Given the description of an element on the screen output the (x, y) to click on. 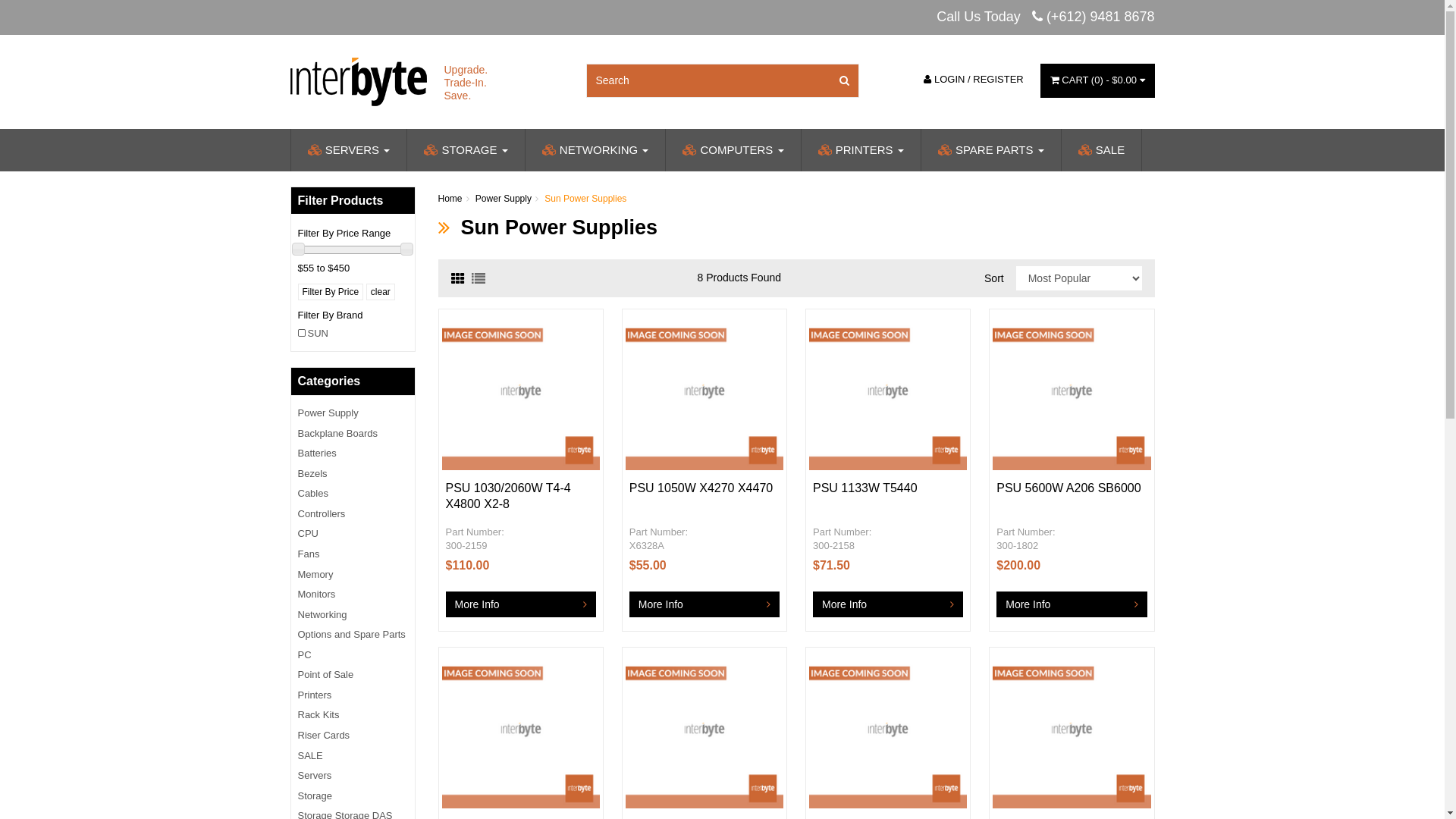
Networking Element type: text (352, 615)
Interbyte Element type: hover (357, 80)
Rack Kits Element type: text (352, 715)
More Info Element type: text (1071, 604)
Controllers Element type: text (352, 514)
Batteries Element type: text (352, 453)
PC Element type: text (352, 655)
Options and Spare Parts Element type: text (352, 635)
Home Element type: text (450, 198)
More Info Element type: text (887, 604)
Cables Element type: text (352, 494)
More Info Element type: text (520, 604)
Servers Element type: text (352, 776)
CART (0) - $0.00 Element type: text (1097, 80)
Search Element type: text (843, 80)
PRINTERS Element type: text (860, 149)
CPU Element type: text (352, 534)
Sun Power Supplies Element type: text (585, 198)
PSU 1133W T5440 Element type: text (864, 487)
Printers Element type: text (352, 695)
More Info Element type: text (704, 604)
NETWORKING Element type: text (594, 149)
Point of Sale Element type: text (352, 675)
PSU 5600W A206 SB6000 Element type: text (1068, 487)
Filter Products Element type: text (352, 200)
COMPUTERS Element type: text (732, 149)
Power Supply Element type: text (352, 413)
Memory Element type: text (352, 575)
clear Element type: text (380, 291)
Filter By Price Element type: text (330, 291)
Call Us Today   (+612) 9481 8678 Element type: text (1045, 16)
Storage Element type: text (352, 796)
SPARE PARTS Element type: text (990, 149)
Backplane Boards Element type: text (352, 434)
Riser Cards Element type: text (352, 735)
STORAGE Element type: text (465, 149)
Power Supply Element type: text (503, 198)
PSU 1050W X4270 X4470 Element type: text (700, 487)
Bezels Element type: text (352, 474)
LOGIN / REGISTER Element type: text (973, 80)
SUN Element type: text (352, 333)
Fans Element type: text (352, 554)
SALE Element type: text (1101, 149)
Monitors Element type: text (352, 594)
SERVERS Element type: text (347, 149)
SALE Element type: text (352, 756)
PSU 1030/2060W T4-4 X4800 X2-8 Element type: text (508, 495)
